Given the description of an element on the screen output the (x, y) to click on. 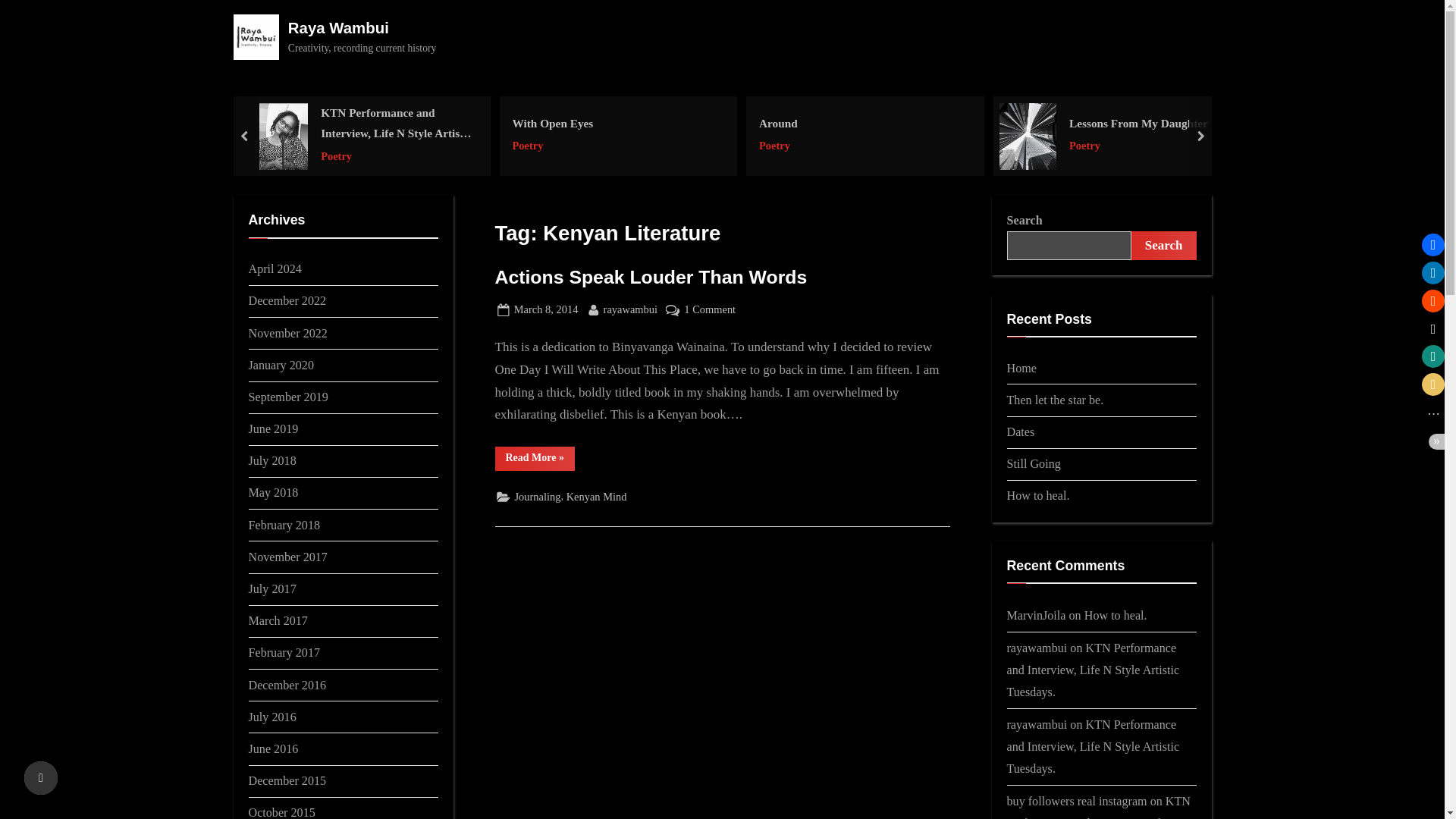
Poetry (552, 145)
Raya Wambui (338, 27)
Poetry (1138, 145)
Poetry (397, 155)
Around (777, 123)
Lessons From My Daughter (1138, 123)
Poetry (777, 145)
With Open Eyes (552, 123)
